Given the description of an element on the screen output the (x, y) to click on. 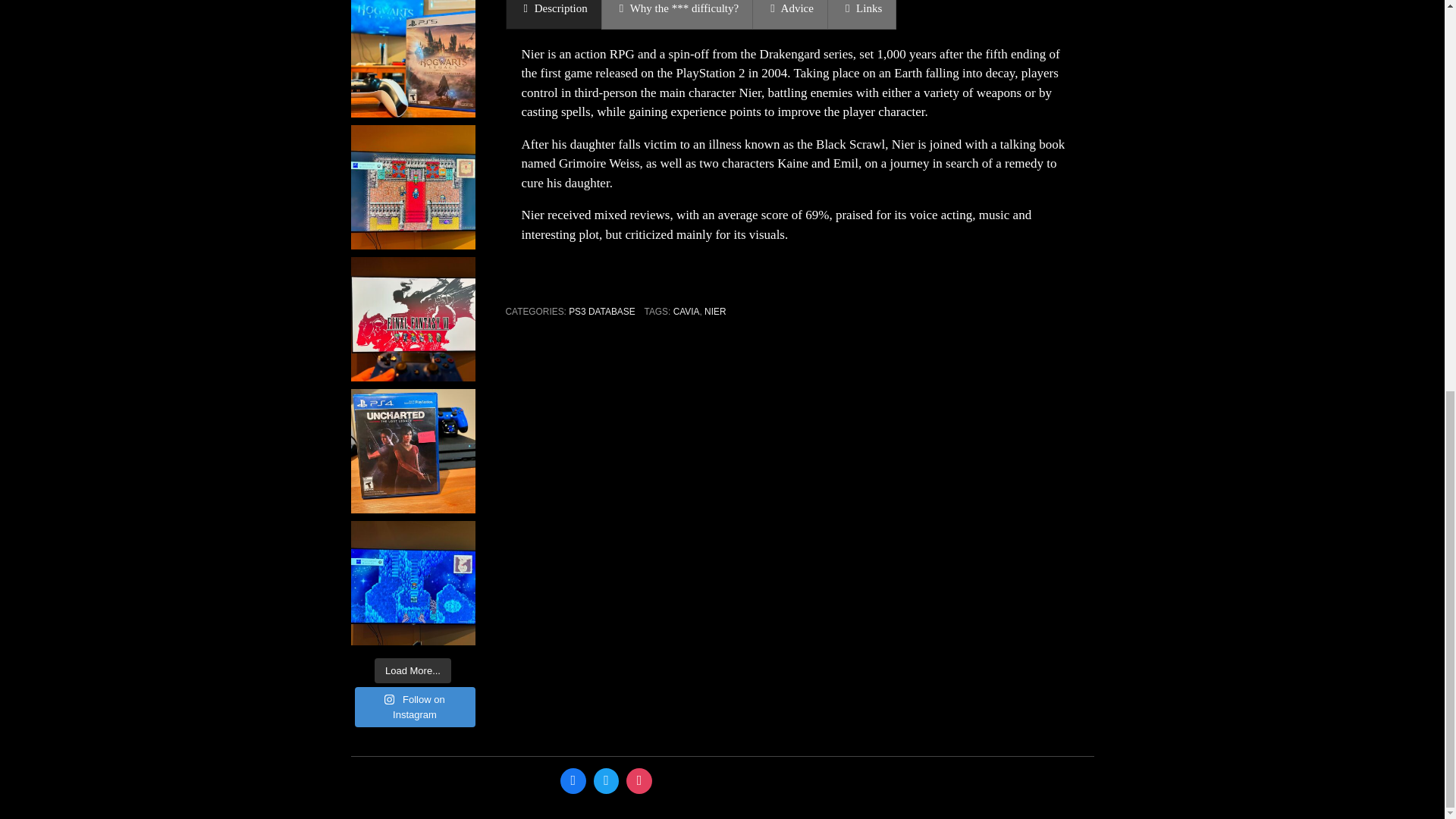
Description (553, 14)
Twitter (606, 780)
Links (861, 14)
PS3 DATABASE (601, 311)
Facebook (572, 780)
Advice (790, 14)
NIER (714, 311)
Instagram (639, 780)
CAVIA (686, 311)
